Given the description of an element on the screen output the (x, y) to click on. 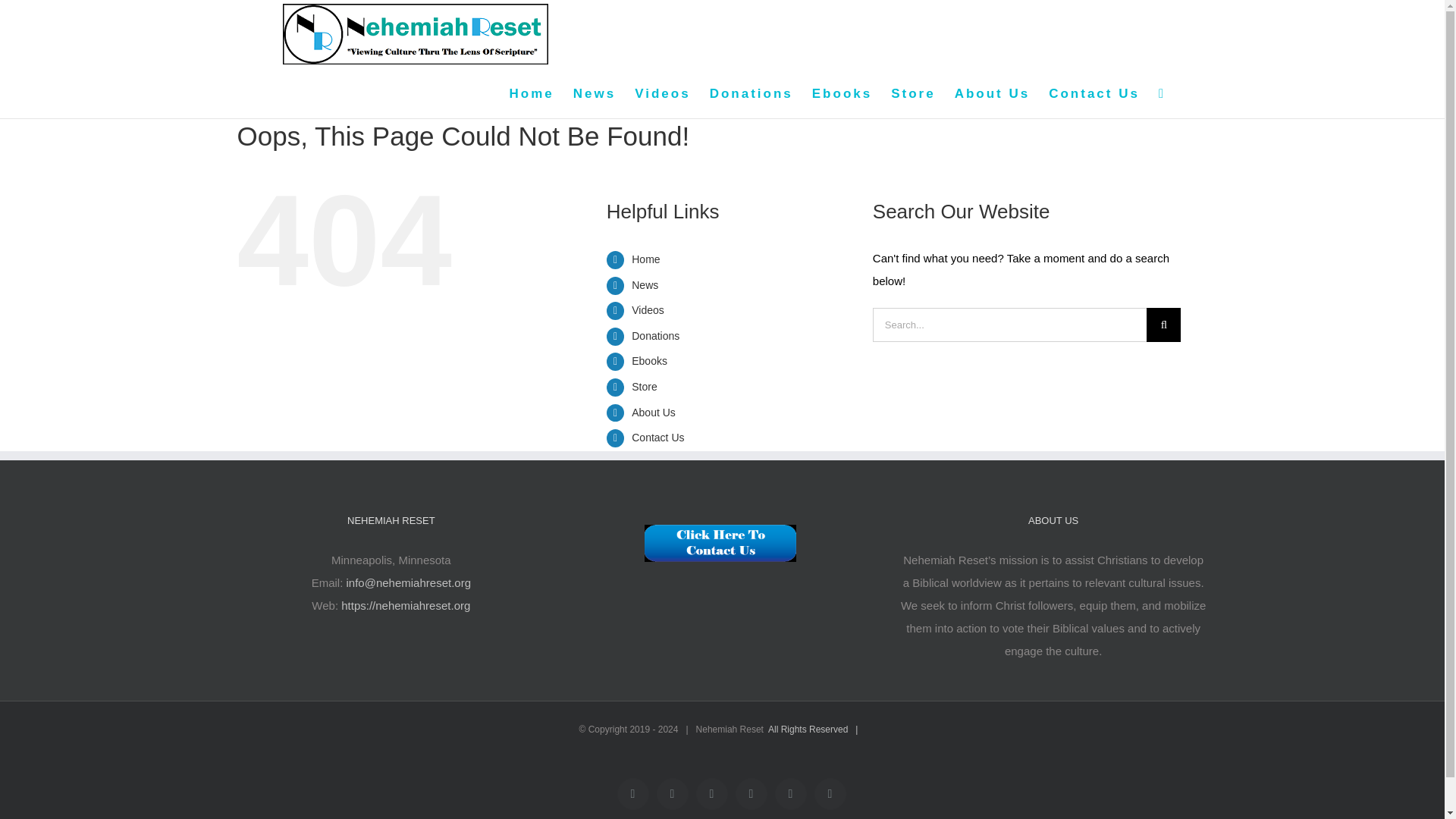
Rumble Webinars (751, 793)
Facebook (633, 793)
Rumble Cultural Issues (790, 793)
Rumble Webinars (751, 793)
Home (645, 259)
Ebooks (648, 360)
Contact Us (657, 437)
Store (643, 386)
X (672, 793)
Donations (655, 336)
